Given the description of an element on the screen output the (x, y) to click on. 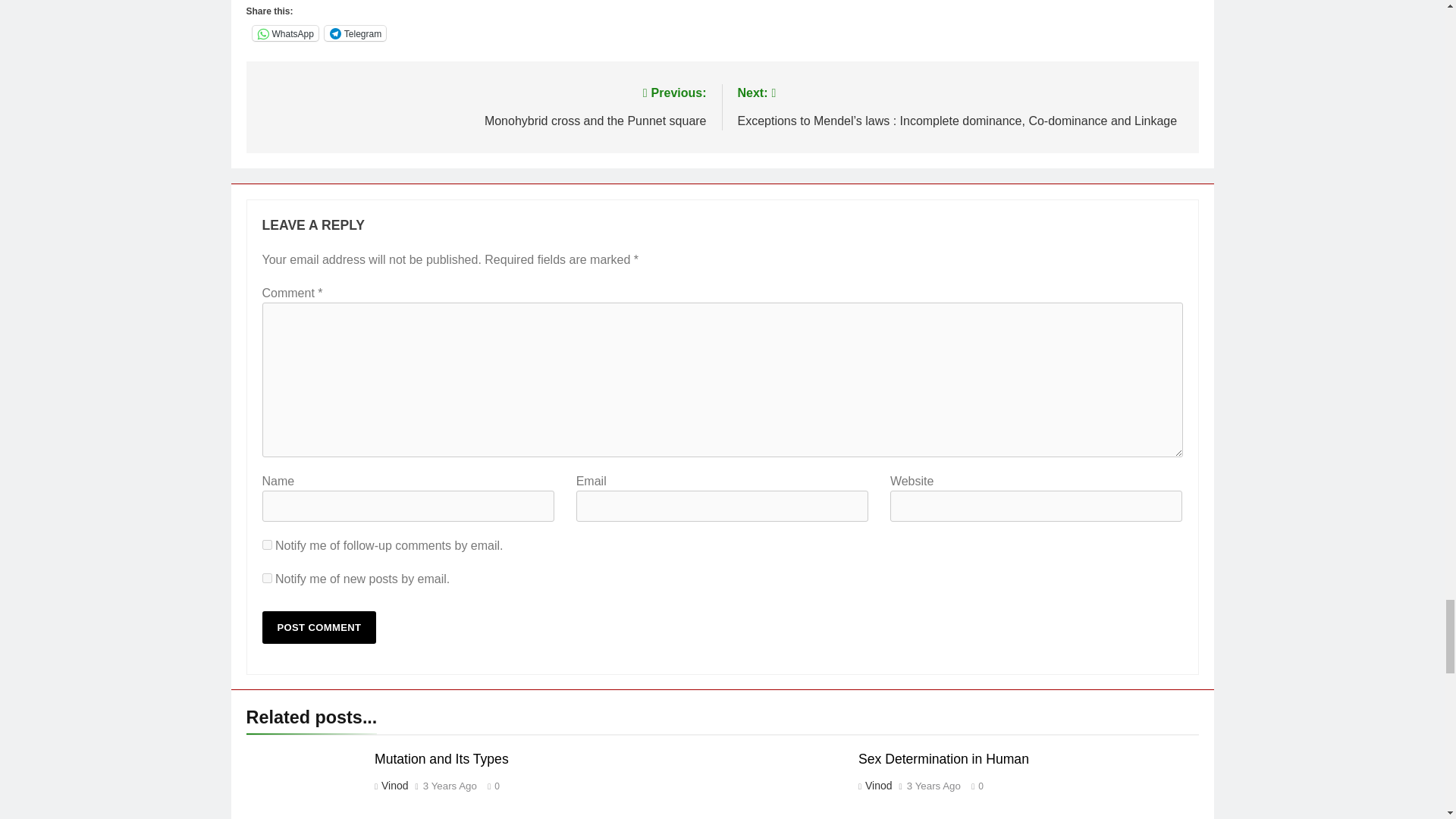
subscribe (267, 544)
Post Comment (319, 626)
subscribe (267, 578)
